Given the description of an element on the screen output the (x, y) to click on. 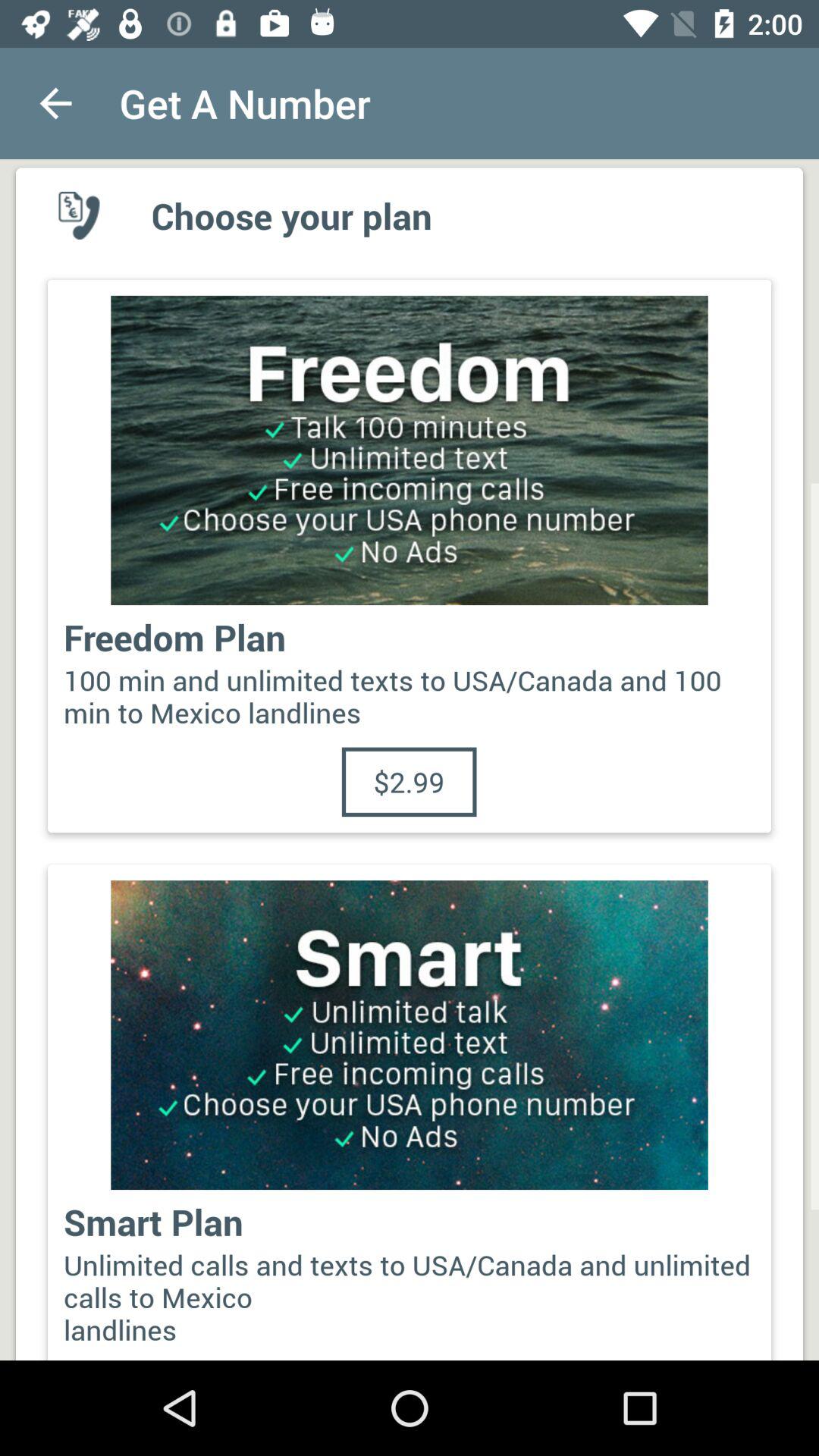
launch the item next to the get a number (55, 103)
